Given the description of an element on the screen output the (x, y) to click on. 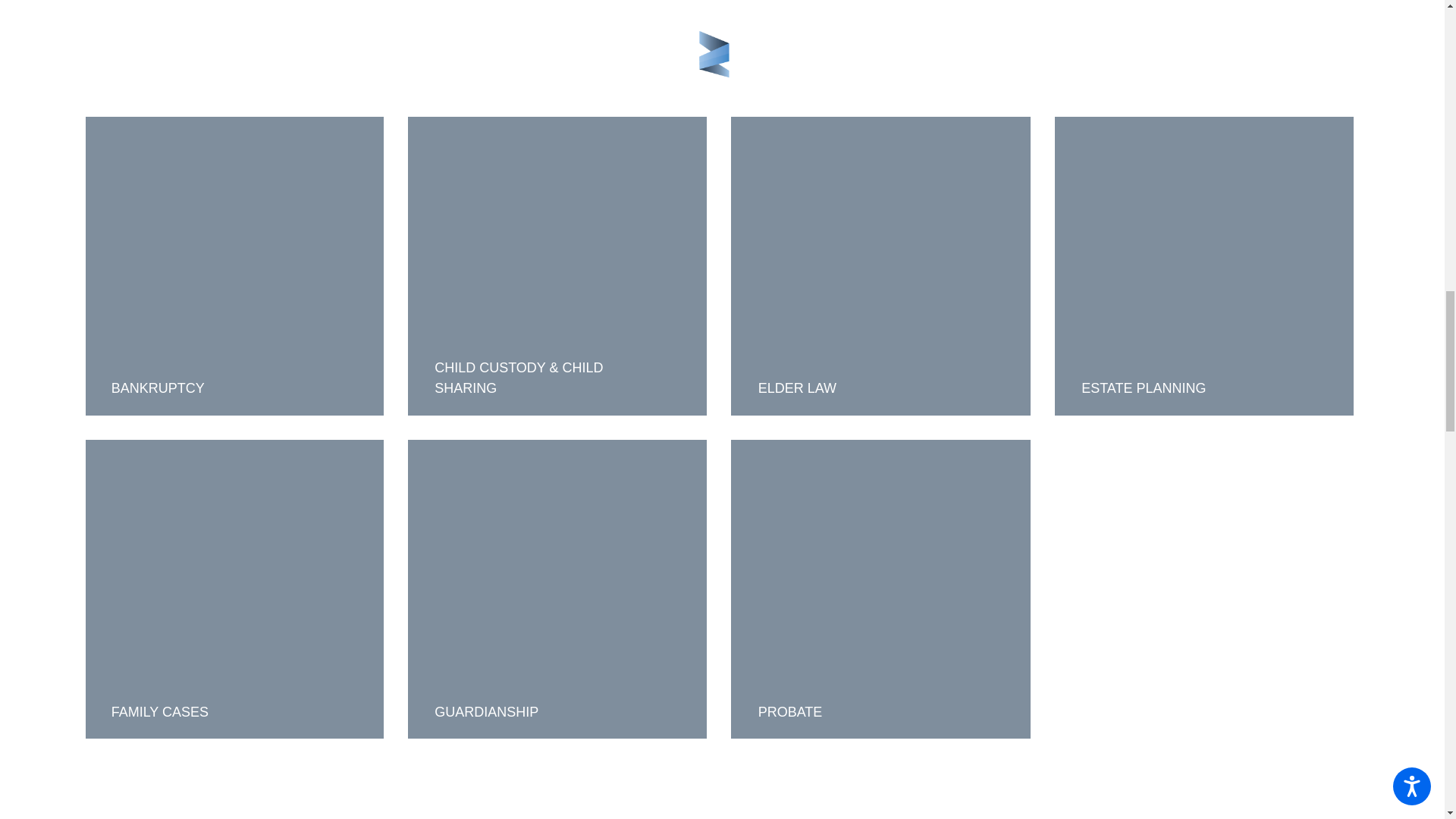
BANKRUPTCY (234, 266)
